Given the description of an element on the screen output the (x, y) to click on. 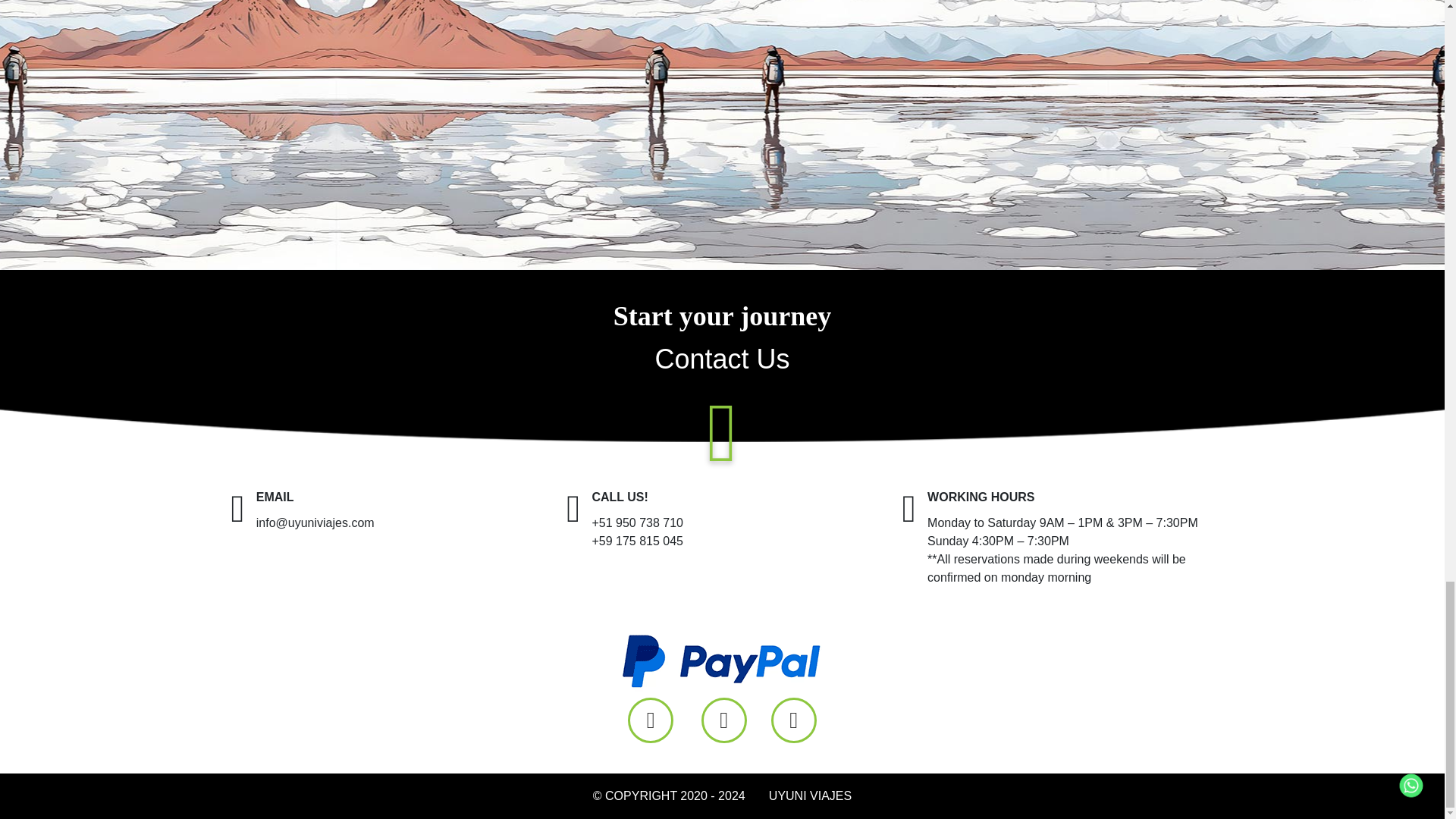
facebook-square (649, 719)
instagram (723, 719)
youtube-play (793, 719)
